Given the description of an element on the screen output the (x, y) to click on. 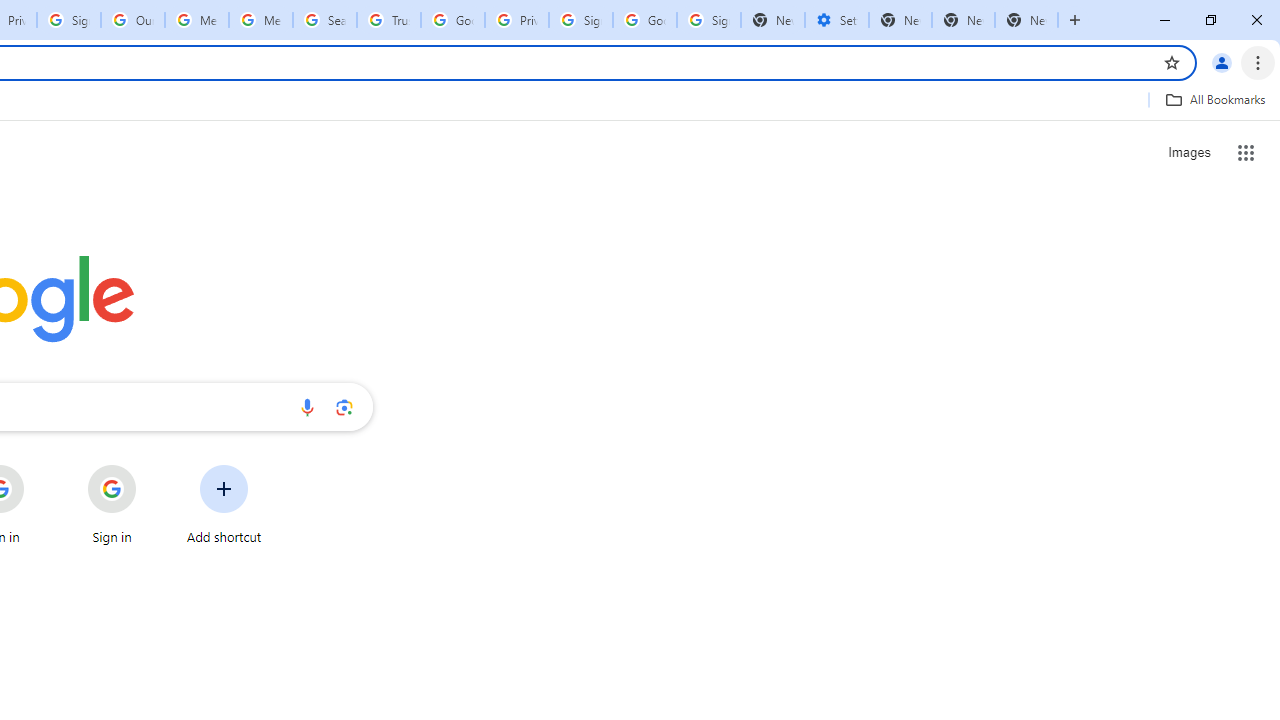
Google Cybersecurity Innovations - Google Safety Center (645, 20)
Search by voice (307, 407)
Google apps (1245, 152)
Add shortcut (223, 504)
New Tab (1075, 20)
Sign in (111, 504)
Restore (1210, 20)
All Bookmarks (1215, 99)
Bookmark this tab (1171, 62)
Sign in - Google Accounts (69, 20)
Settings - Performance (837, 20)
You (1221, 62)
Search by image (344, 407)
